Given the description of an element on the screen output the (x, y) to click on. 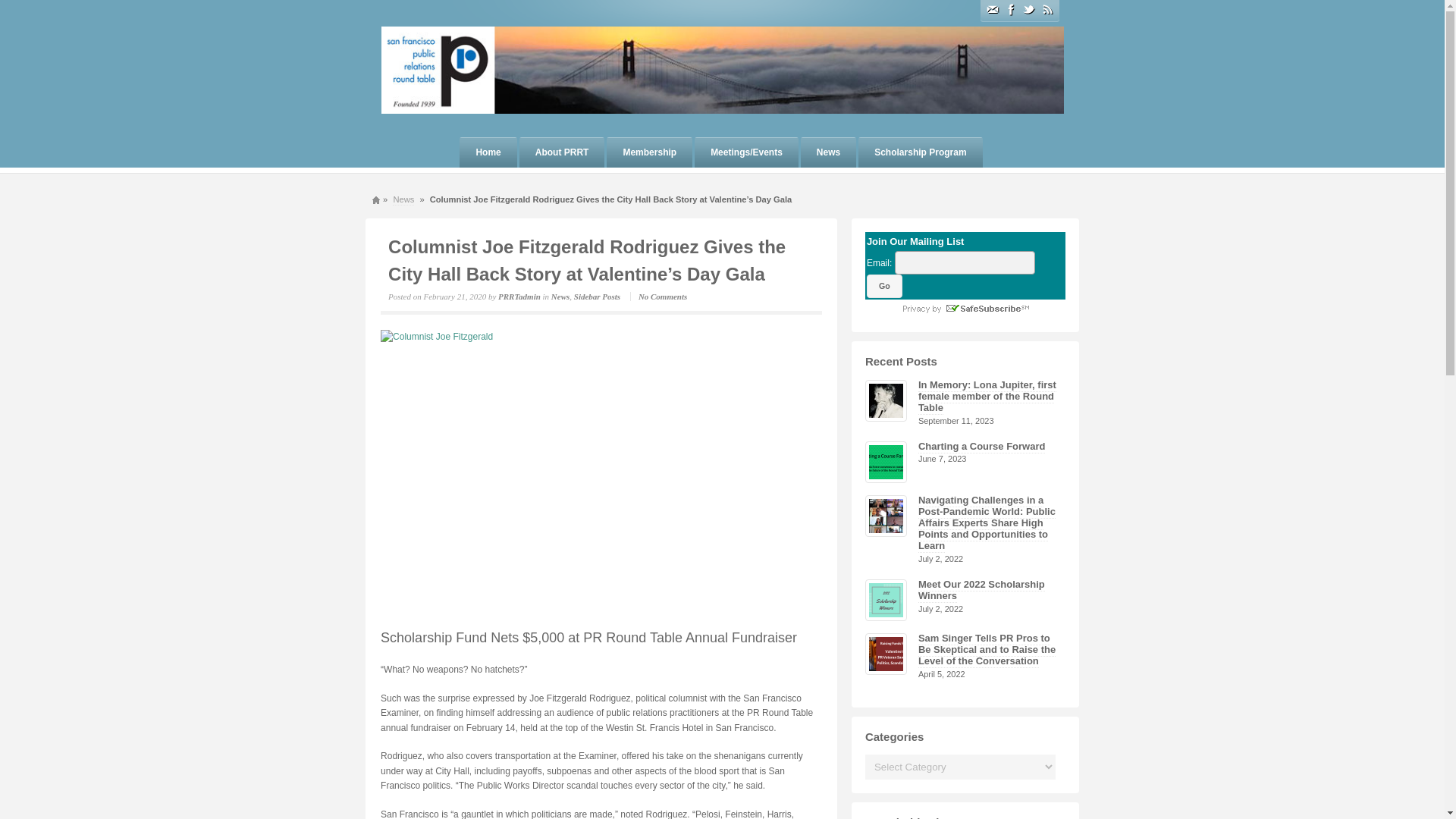
News (828, 152)
View all posts in News (560, 296)
Facebook (1010, 9)
View all posts by PRRTadmin (518, 296)
Membership (650, 152)
Email (991, 9)
Meet Our 2022 Scholarship Winners (981, 590)
Home (488, 152)
Sidebar Posts (596, 296)
